Given the description of an element on the screen output the (x, y) to click on. 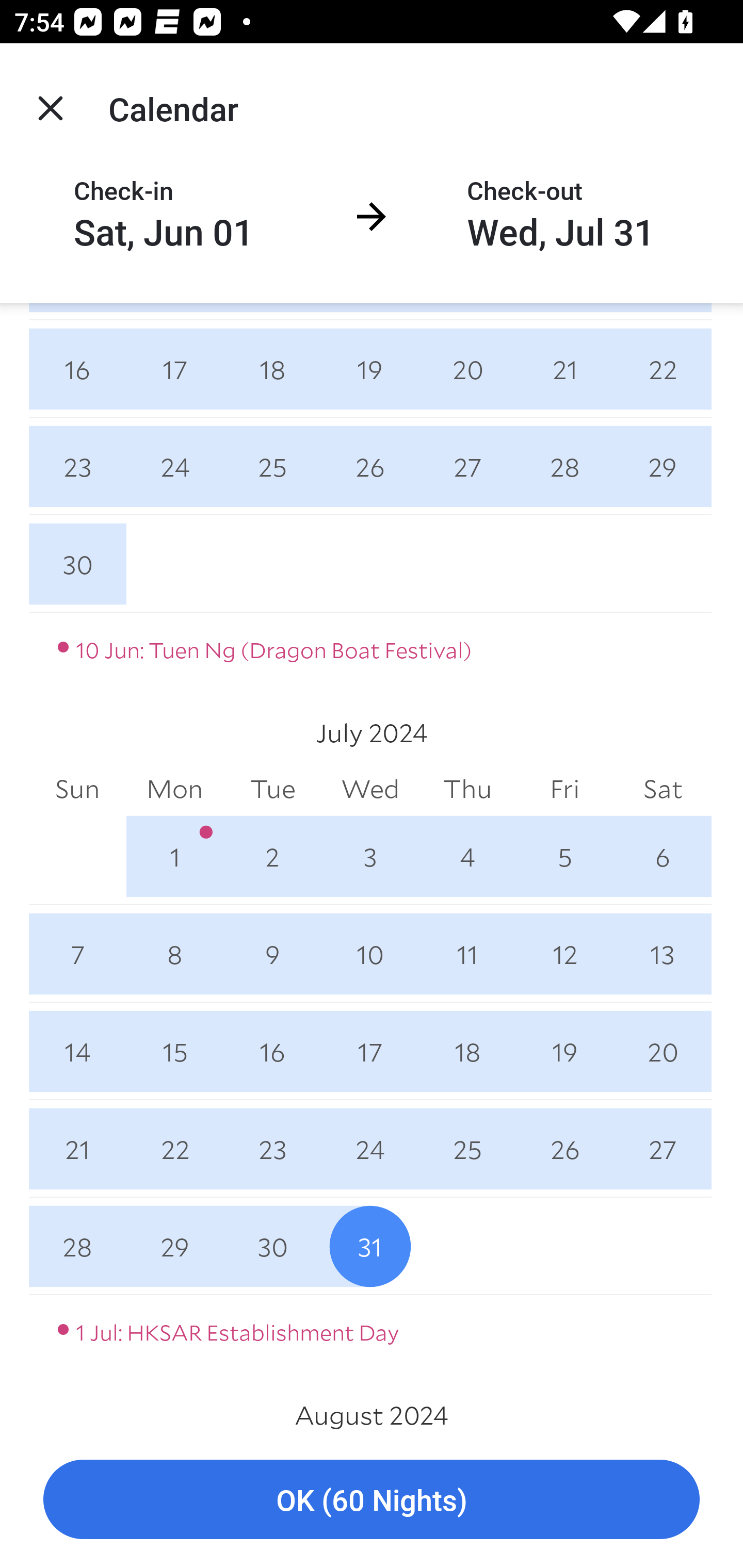
16 16 June 2024 (77, 368)
17 17 June 2024 (174, 368)
18 18 June 2024 (272, 368)
19 19 June 2024 (370, 368)
20 20 June 2024 (467, 368)
21 21 June 2024 (564, 368)
22 22 June 2024 (662, 368)
23 23 June 2024 (77, 466)
24 24 June 2024 (174, 466)
25 25 June 2024 (272, 466)
26 26 June 2024 (370, 466)
27 27 June 2024 (467, 466)
28 28 June 2024 (564, 466)
29 29 June 2024 (662, 466)
30 30 June 2024 (77, 564)
Sun (77, 788)
Mon (174, 788)
Tue (272, 788)
Wed (370, 788)
Thu (467, 788)
Fri (564, 788)
Sat (662, 788)
1 1 July 2024 (174, 855)
2 2 July 2024 (272, 855)
3 3 July 2024 (370, 855)
4 4 July 2024 (467, 855)
5 5 July 2024 (564, 855)
6 6 July 2024 (662, 855)
7 7 July 2024 (77, 952)
8 8 July 2024 (174, 952)
9 9 July 2024 (272, 952)
10 10 July 2024 (370, 952)
11 11 July 2024 (467, 952)
12 12 July 2024 (564, 952)
13 13 July 2024 (662, 952)
14 14 July 2024 (77, 1050)
15 15 July 2024 (174, 1050)
16 16 July 2024 (272, 1050)
17 17 July 2024 (370, 1050)
18 18 July 2024 (467, 1050)
19 19 July 2024 (564, 1050)
20 20 July 2024 (662, 1050)
21 21 July 2024 (77, 1148)
22 22 July 2024 (174, 1148)
23 23 July 2024 (272, 1148)
24 24 July 2024 (370, 1148)
25 25 July 2024 (467, 1148)
26 26 July 2024 (564, 1148)
27 27 July 2024 (662, 1148)
